Given the description of an element on the screen output the (x, y) to click on. 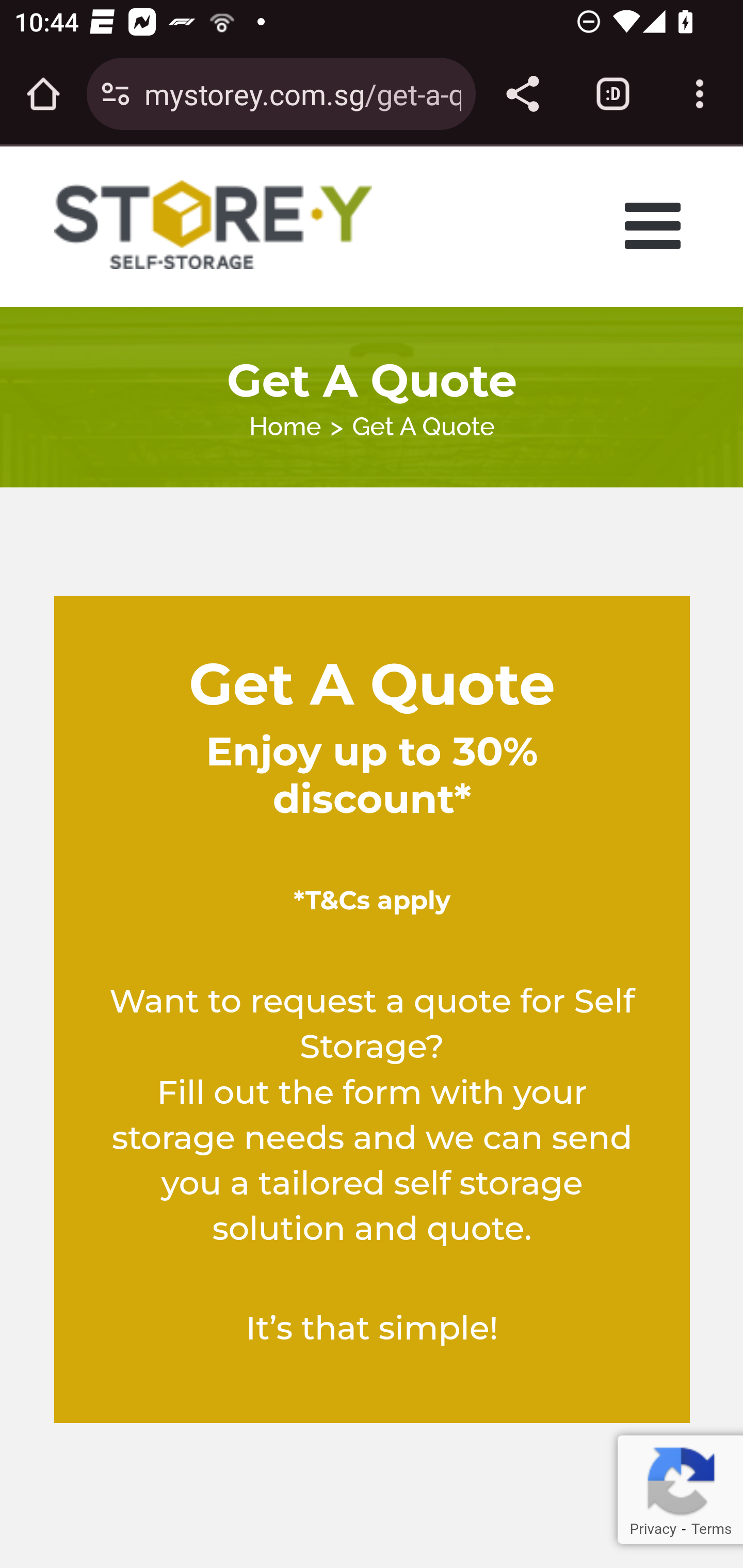
Open the home page (43, 93)
Connection is secure (115, 93)
Share (522, 93)
Switch or close tabs (612, 93)
Customize and control Google Chrome (699, 93)
mystorey.com.sg/get-a-quote/ (302, 92)
Store-Y Logo (213, 225)
Toggle mobile menu  (657, 225)
Home (285, 426)
Privacy (652, 1528)
Terms (711, 1528)
